Given the description of an element on the screen output the (x, y) to click on. 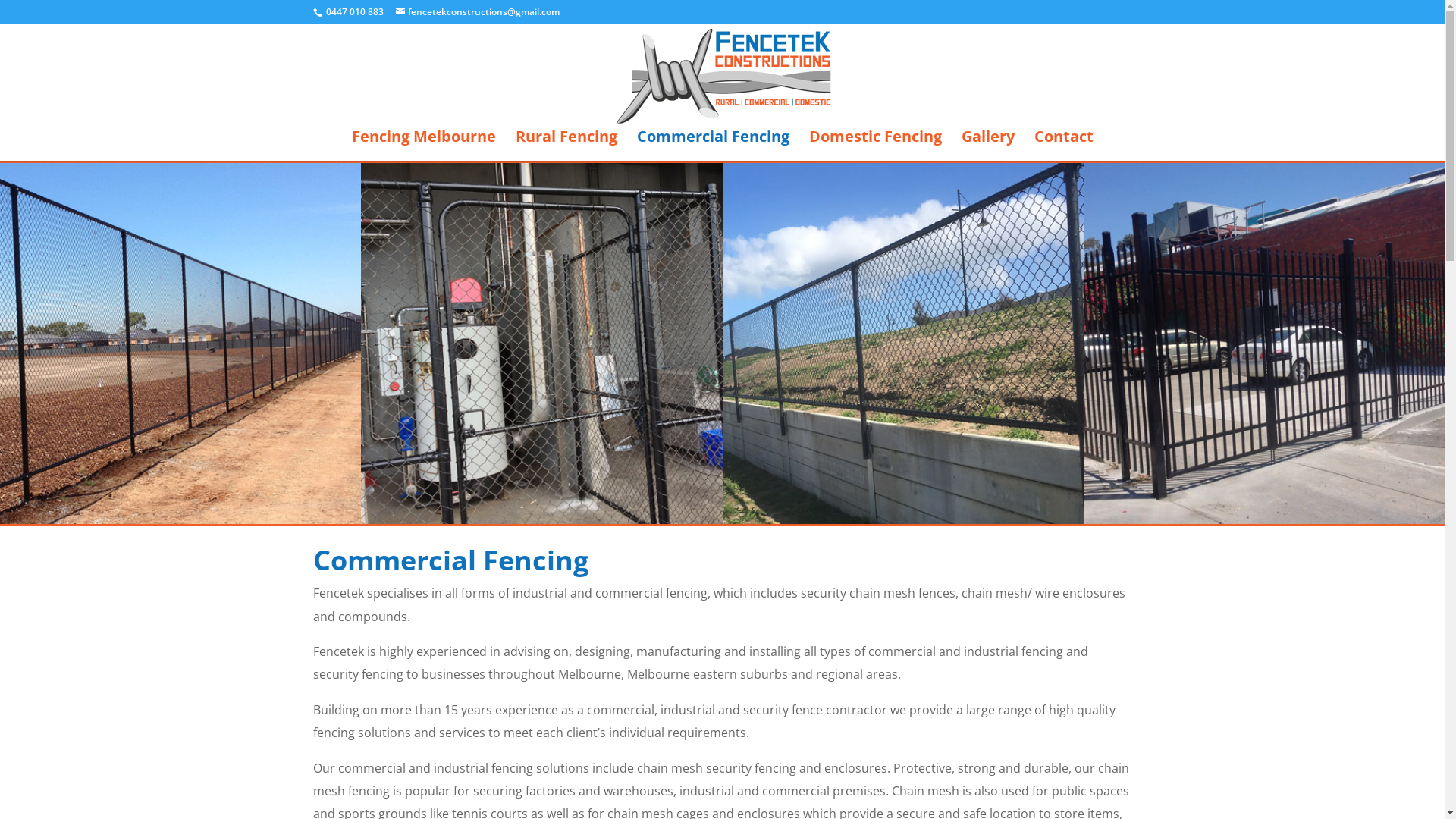
0447 010 883 Element type: text (354, 11)
Commercial Fencing Element type: text (713, 145)
Domestic Fencing Element type: text (874, 145)
fencetekconstructions@gmail.com Element type: text (477, 11)
Rural Fencing Element type: text (566, 145)
Contact Element type: text (1063, 145)
Gallery Element type: text (987, 145)
Fencing Melbourne Element type: text (423, 145)
